Given the description of an element on the screen output the (x, y) to click on. 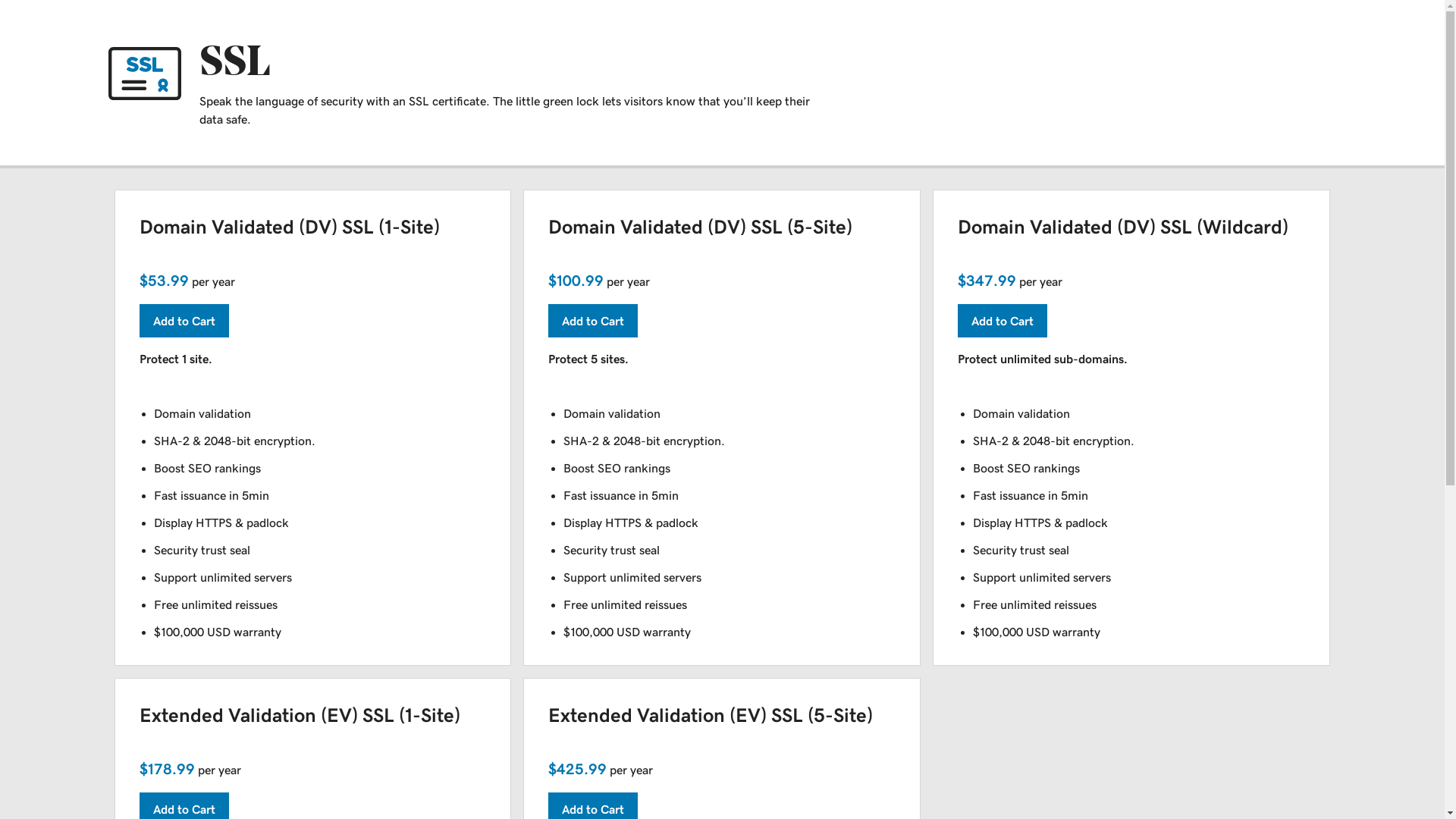
Add to Cart Element type: text (592, 320)
Add to Cart Element type: text (1002, 320)
Add to Cart Element type: text (184, 320)
